Given the description of an element on the screen output the (x, y) to click on. 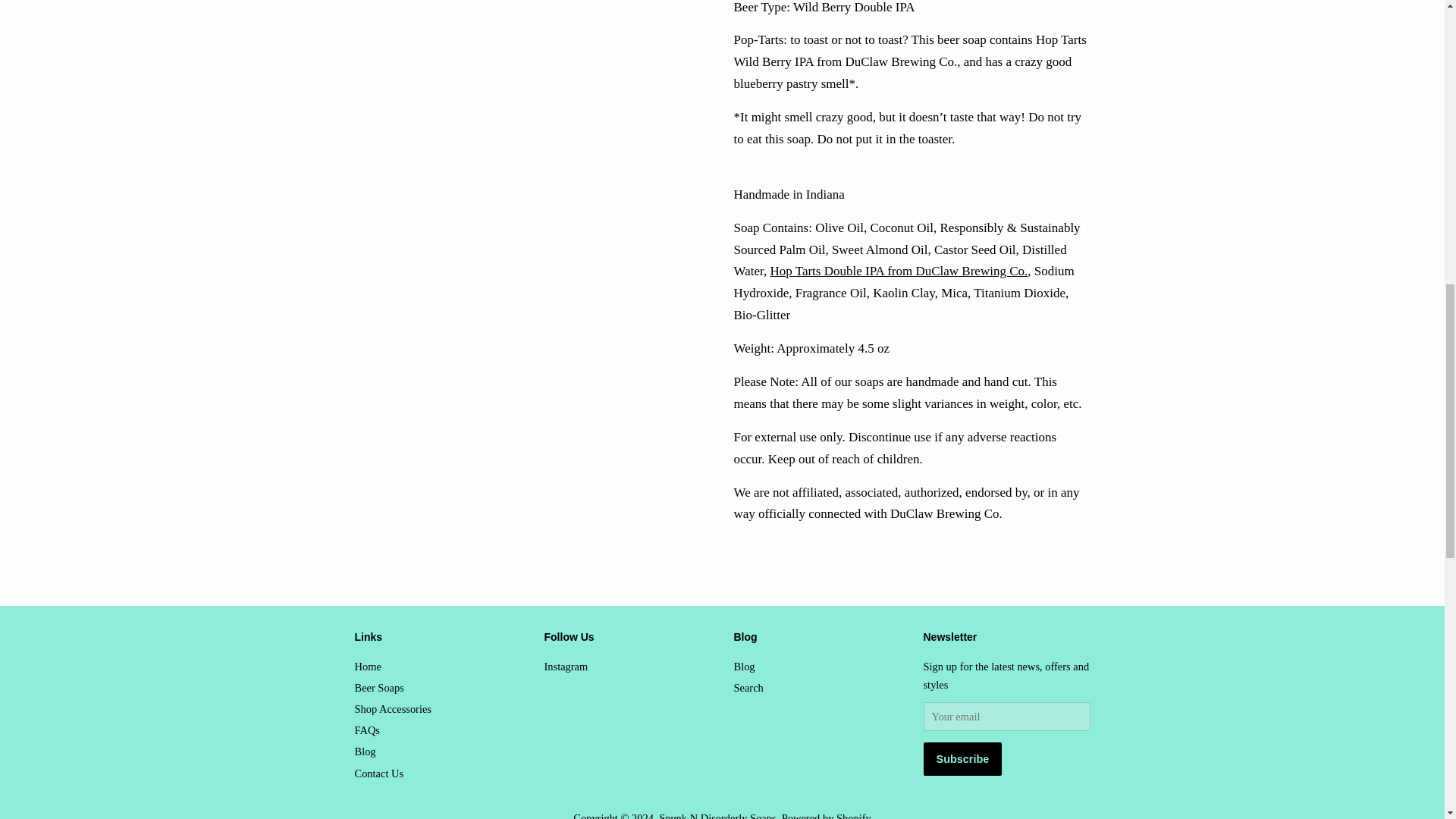
Spunk N Disorderly Soaps on Instagram (566, 666)
Subscribe (963, 758)
